Given the description of an element on the screen output the (x, y) to click on. 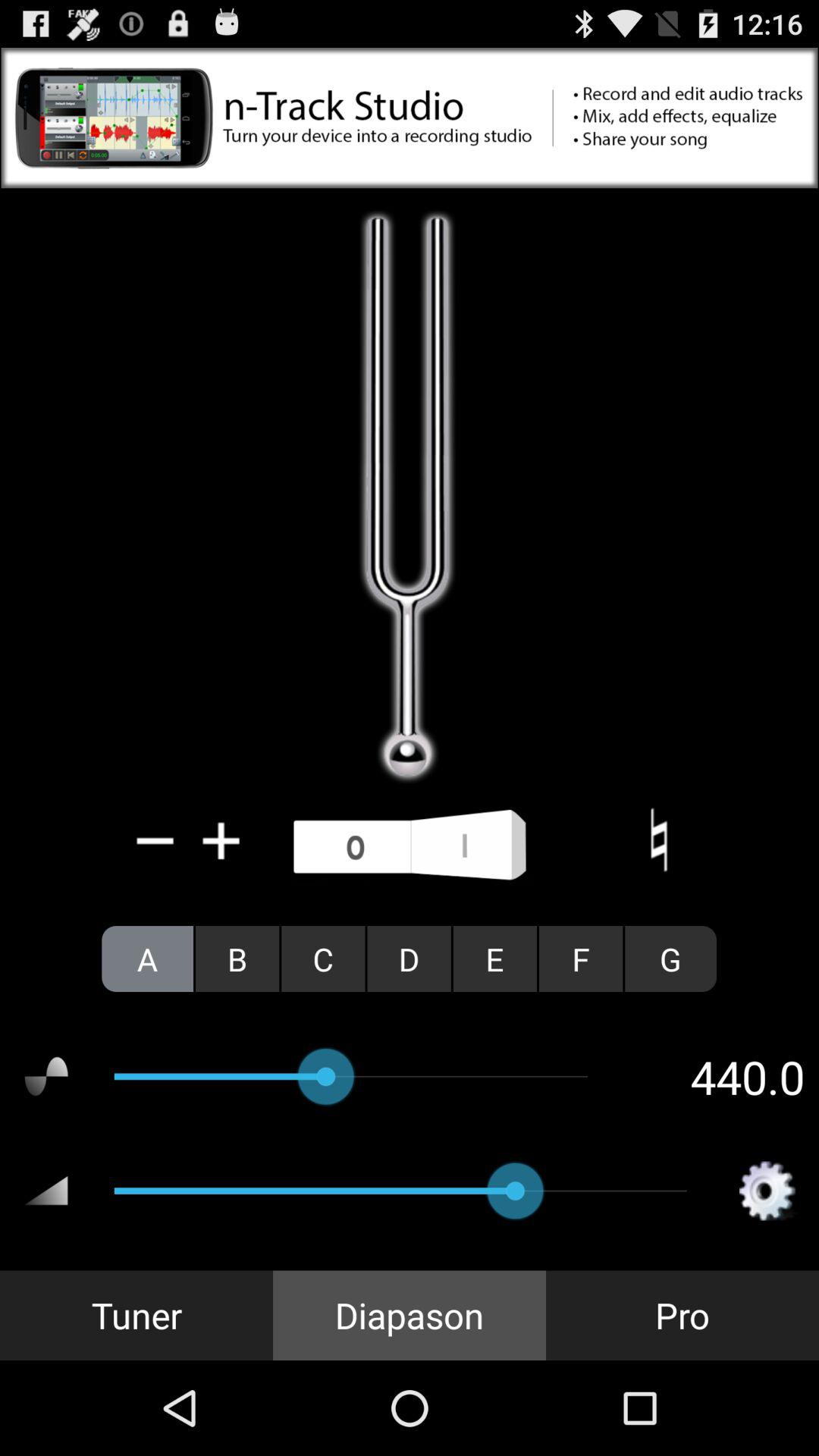
return to natural (658, 840)
